Given the description of an element on the screen output the (x, y) to click on. 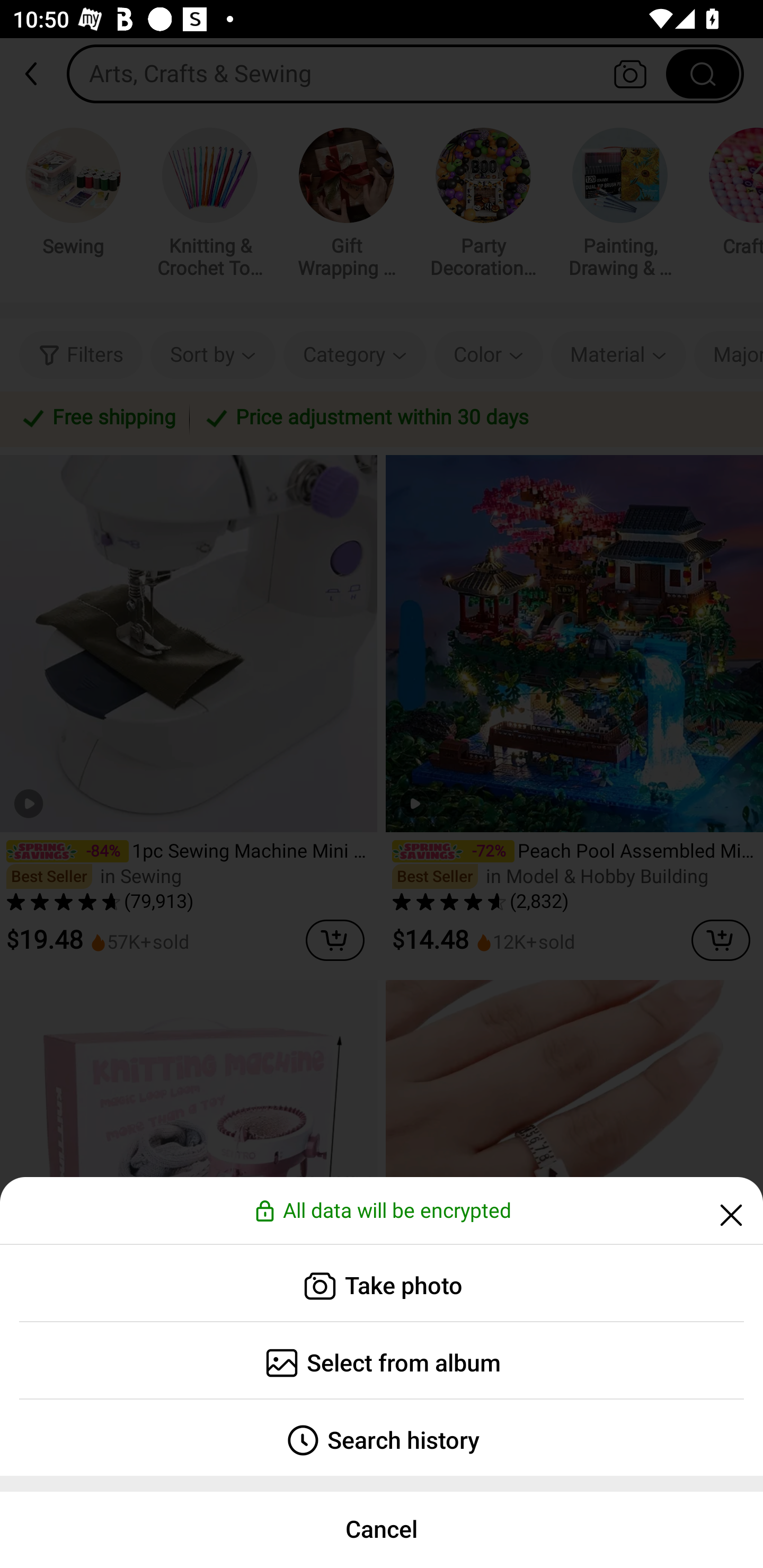
  Take photo (381, 1282)
  Select from album (381, 1359)
  Search history (381, 1437)
Cancel (381, 1529)
